Given the description of an element on the screen output the (x, y) to click on. 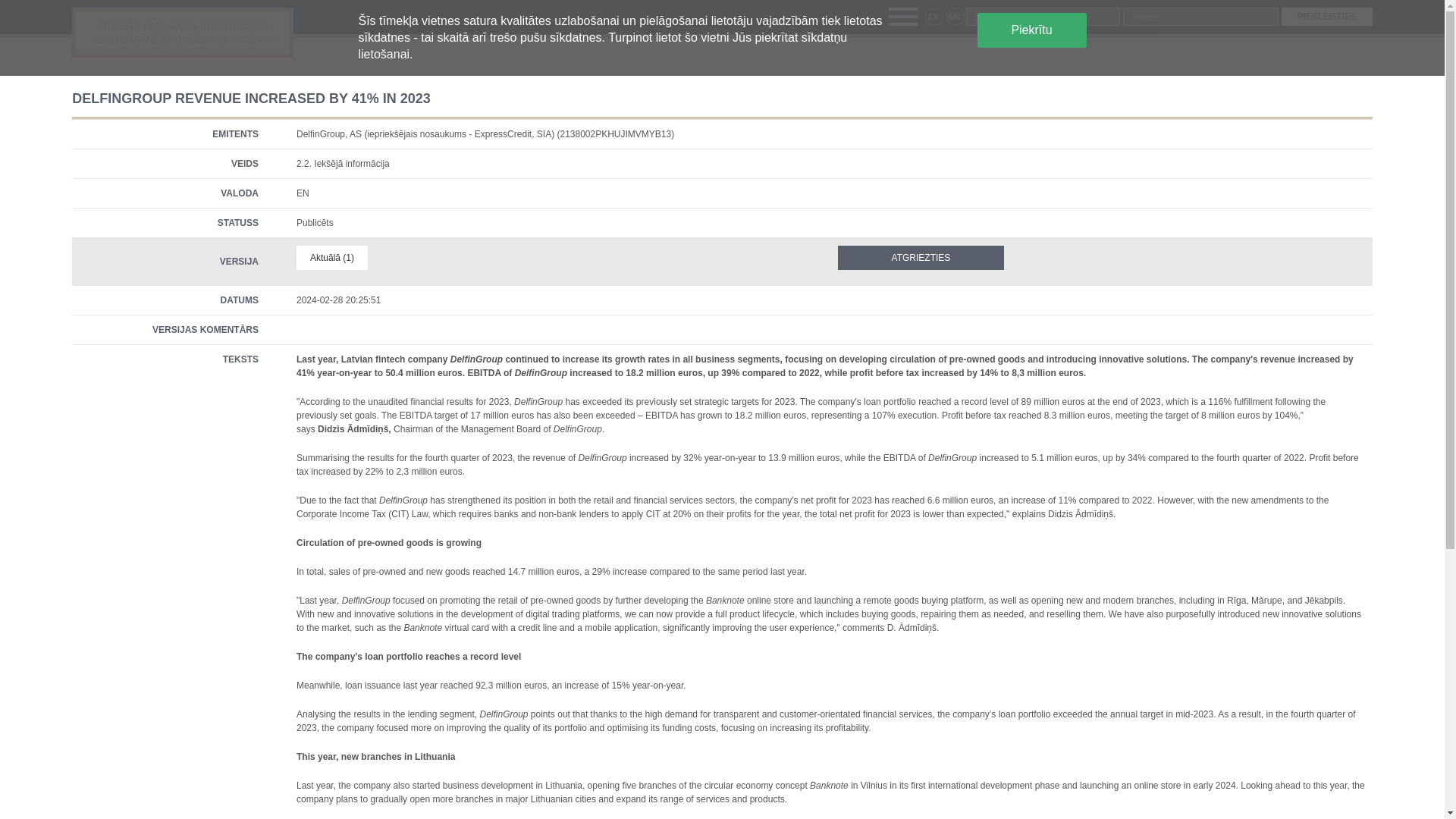
Atgriezties (920, 257)
LV (933, 16)
Atgriezties (920, 257)
EN (954, 16)
Menu (902, 16)
